Given the description of an element on the screen output the (x, y) to click on. 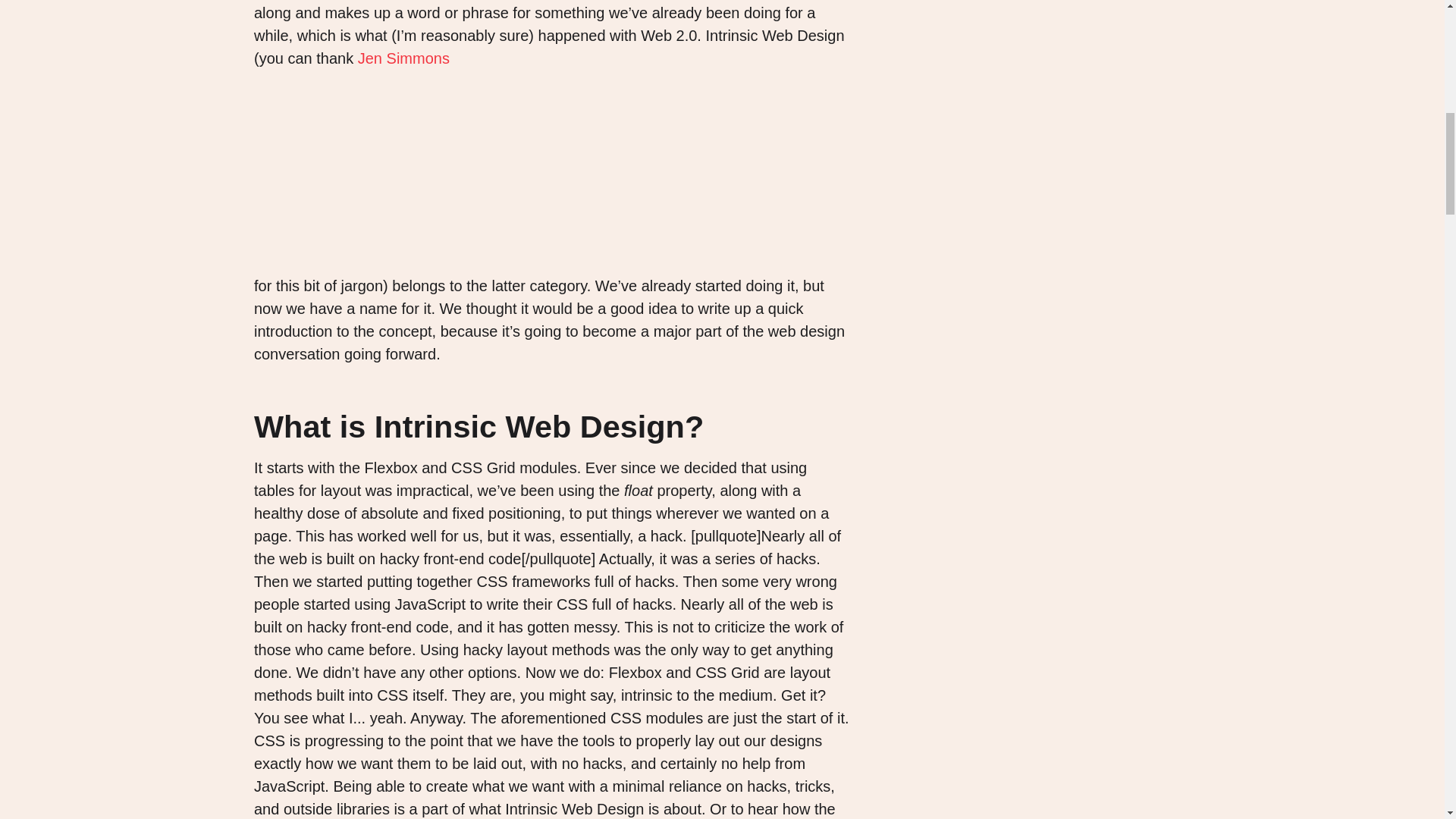
Jen Simmons (403, 57)
